Given the description of an element on the screen output the (x, y) to click on. 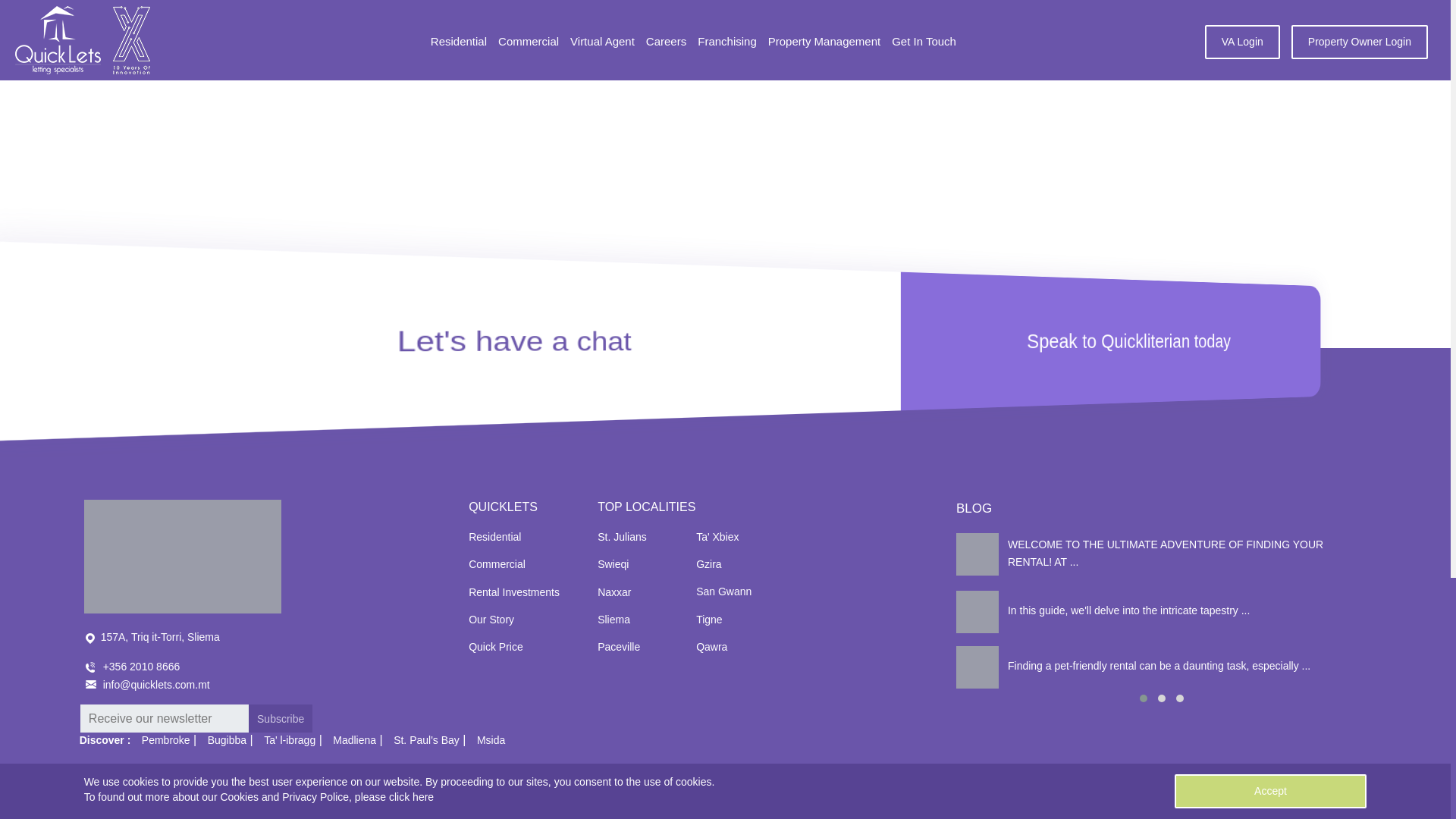
Subscribe (280, 718)
San Gwann (494, 536)
Subscribe (723, 591)
Sliema (280, 718)
Naxxar (613, 619)
Quicklets (613, 592)
Tigne (182, 556)
BLOG (708, 619)
Quick Price (973, 508)
Finding Your Rental: Fun Guide to Rentals (495, 646)
Swieqi (1161, 554)
Paceville (612, 563)
